Given the description of an element on the screen output the (x, y) to click on. 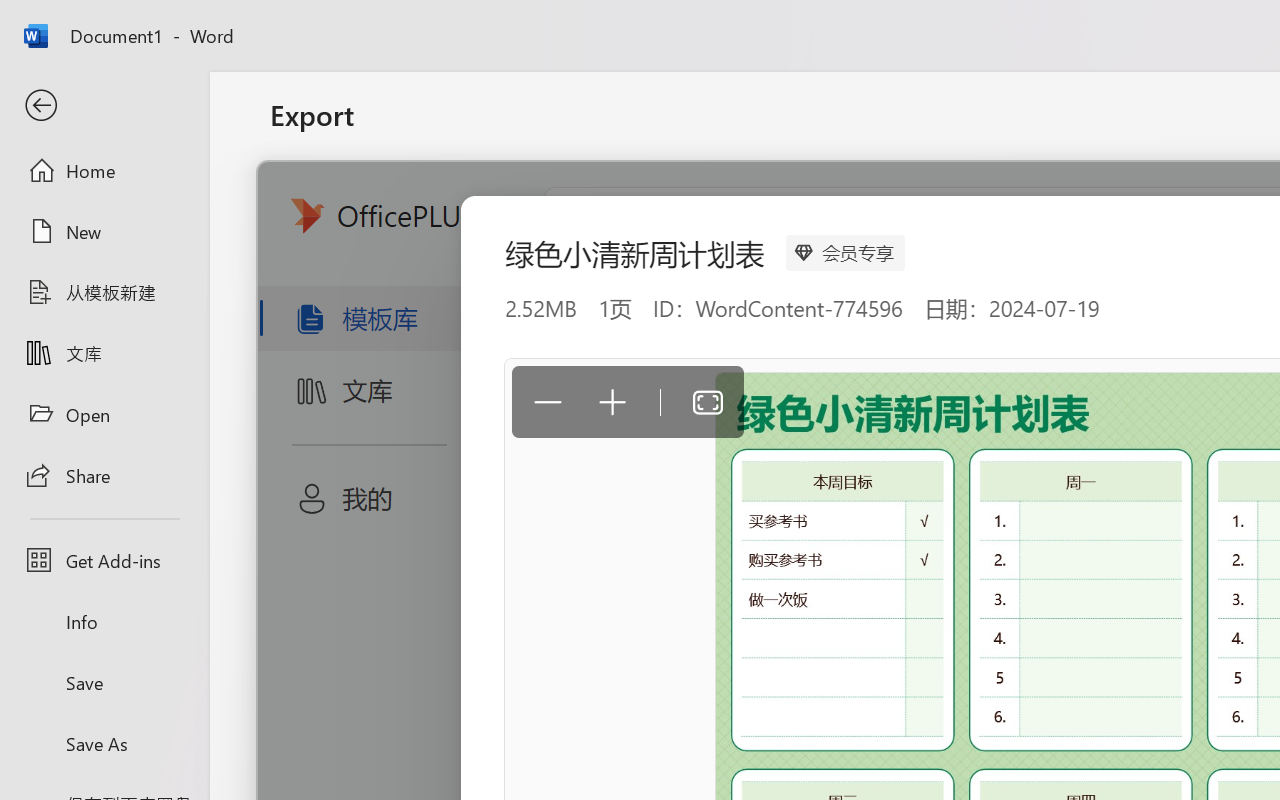
Back (104, 106)
Save As (104, 743)
Change File Type (507, 291)
Get Add-ins (104, 560)
Info (104, 621)
Send documents to Kindle (507, 378)
Create PDF/XPS Document (507, 205)
